Given the description of an element on the screen output the (x, y) to click on. 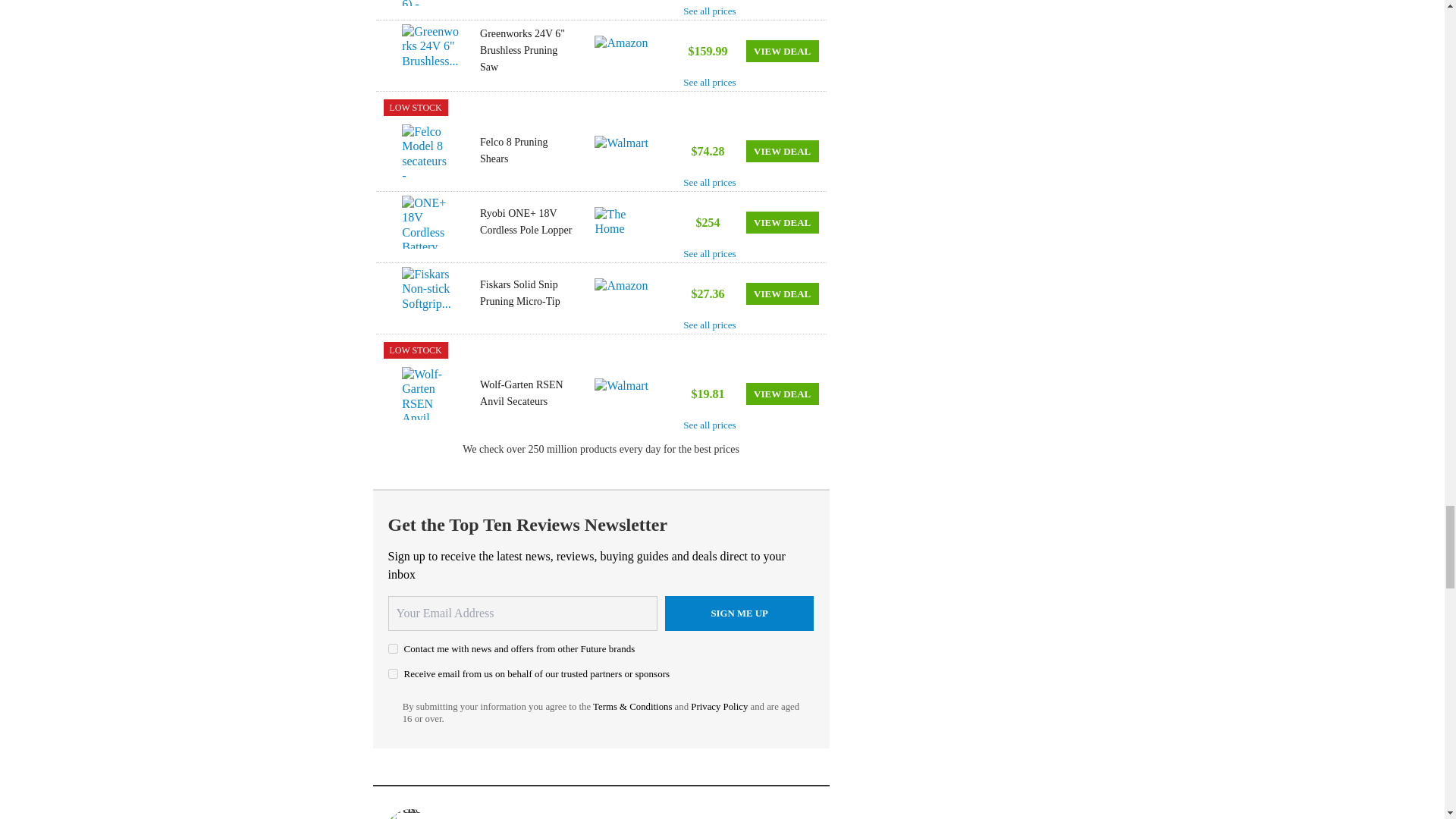
Sign me up (739, 613)
Low Stock (416, 107)
Amazon (624, 51)
Walmart (624, 150)
Fiskars Non-stick Softgrip... (431, 293)
on (392, 648)
Low Stock (416, 350)
Felco Model 8 secateurs -... (431, 150)
Amazon (624, 293)
Greenworks 24V 6" Brushless... (431, 50)
The Home Depot (624, 222)
Wolf-Garten RSEN Anvil... (431, 393)
Walmart (624, 393)
on (392, 673)
